Given the description of an element on the screen output the (x, y) to click on. 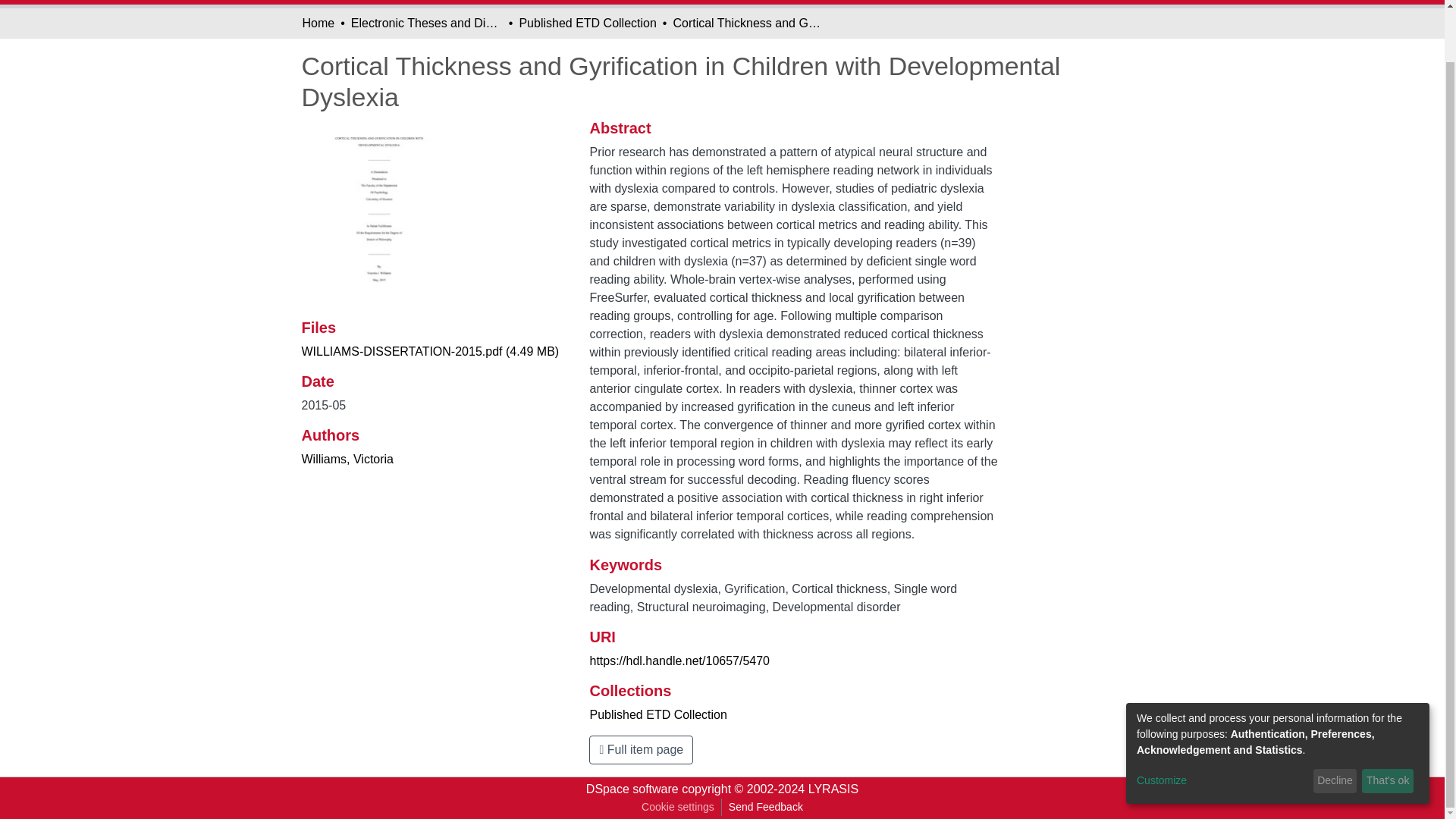
Home (317, 23)
That's ok (1387, 724)
Published ETD Collection (657, 714)
Full item page (641, 749)
Send Feedback (765, 806)
LYRASIS (833, 788)
Published ETD Collection (587, 23)
Customize (1222, 724)
Williams, Victoria (347, 459)
Cookie settings (677, 806)
Decline (1334, 724)
DSpace software (632, 788)
